Given the description of an element on the screen output the (x, y) to click on. 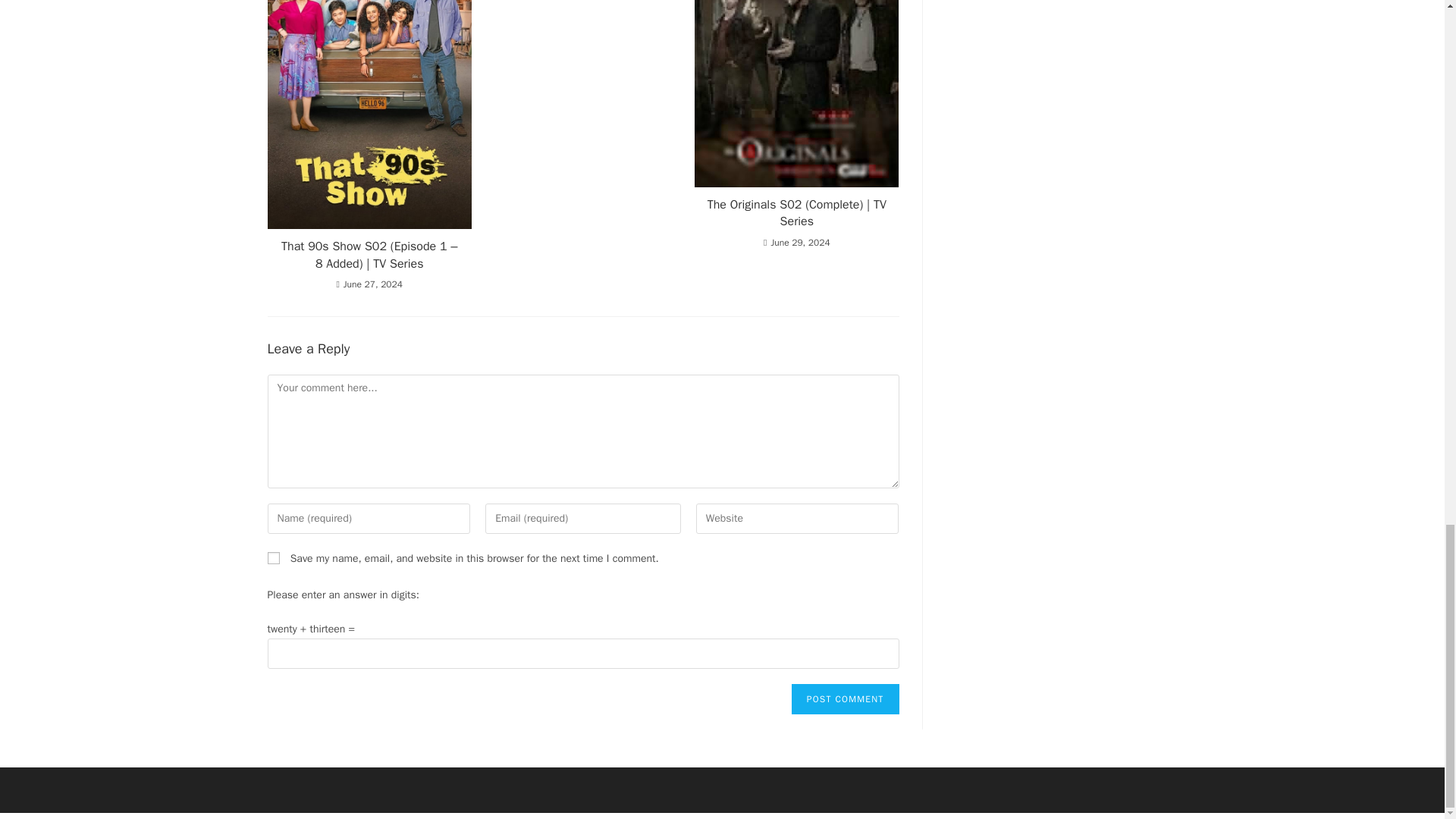
yes (272, 558)
Download That 90S Show (368, 114)
Post Comment (845, 698)
Download That 90S Show (796, 93)
